Given the description of an element on the screen output the (x, y) to click on. 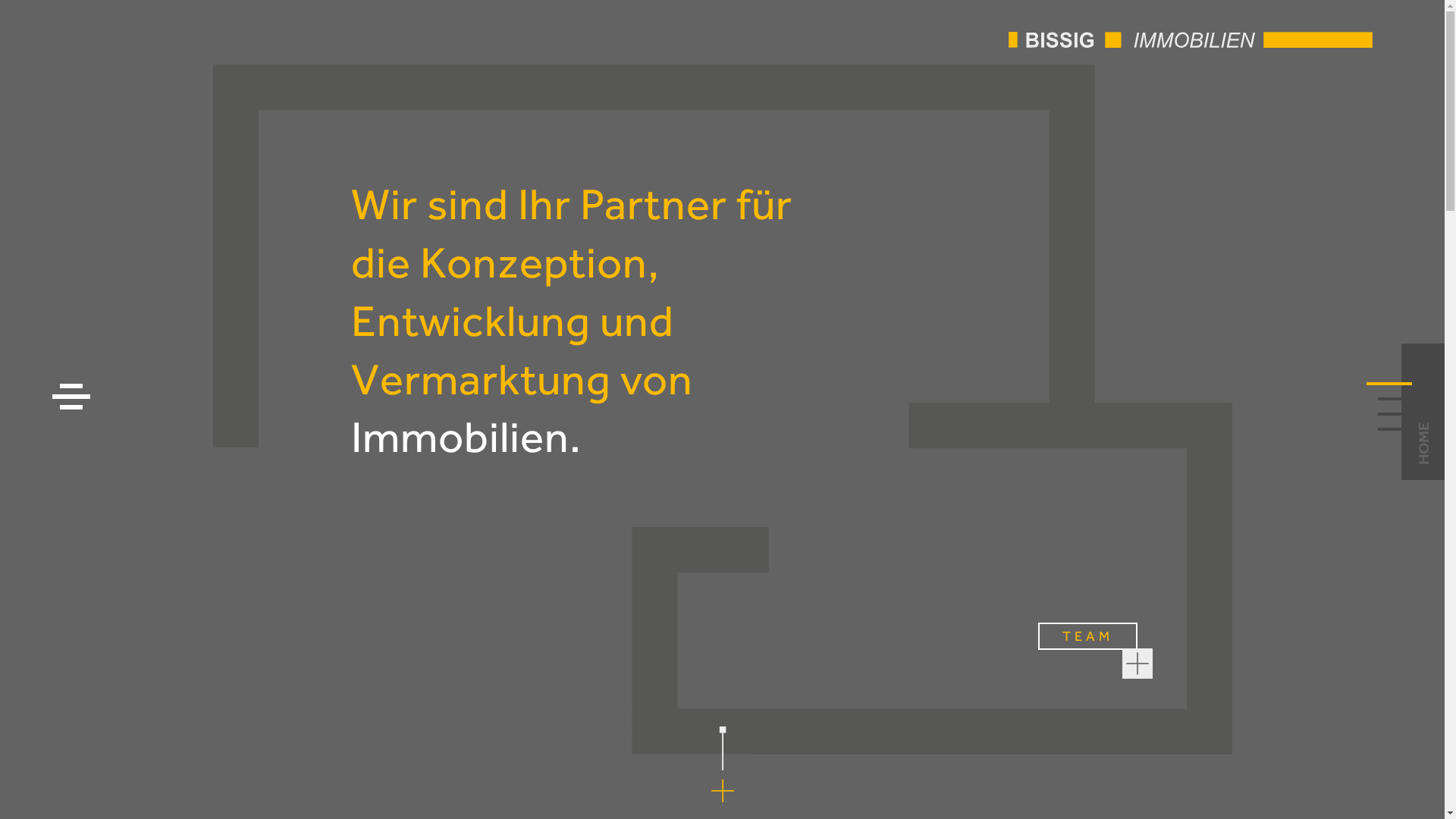
TEAM Element type: text (1087, 635)
